Given the description of an element on the screen output the (x, y) to click on. 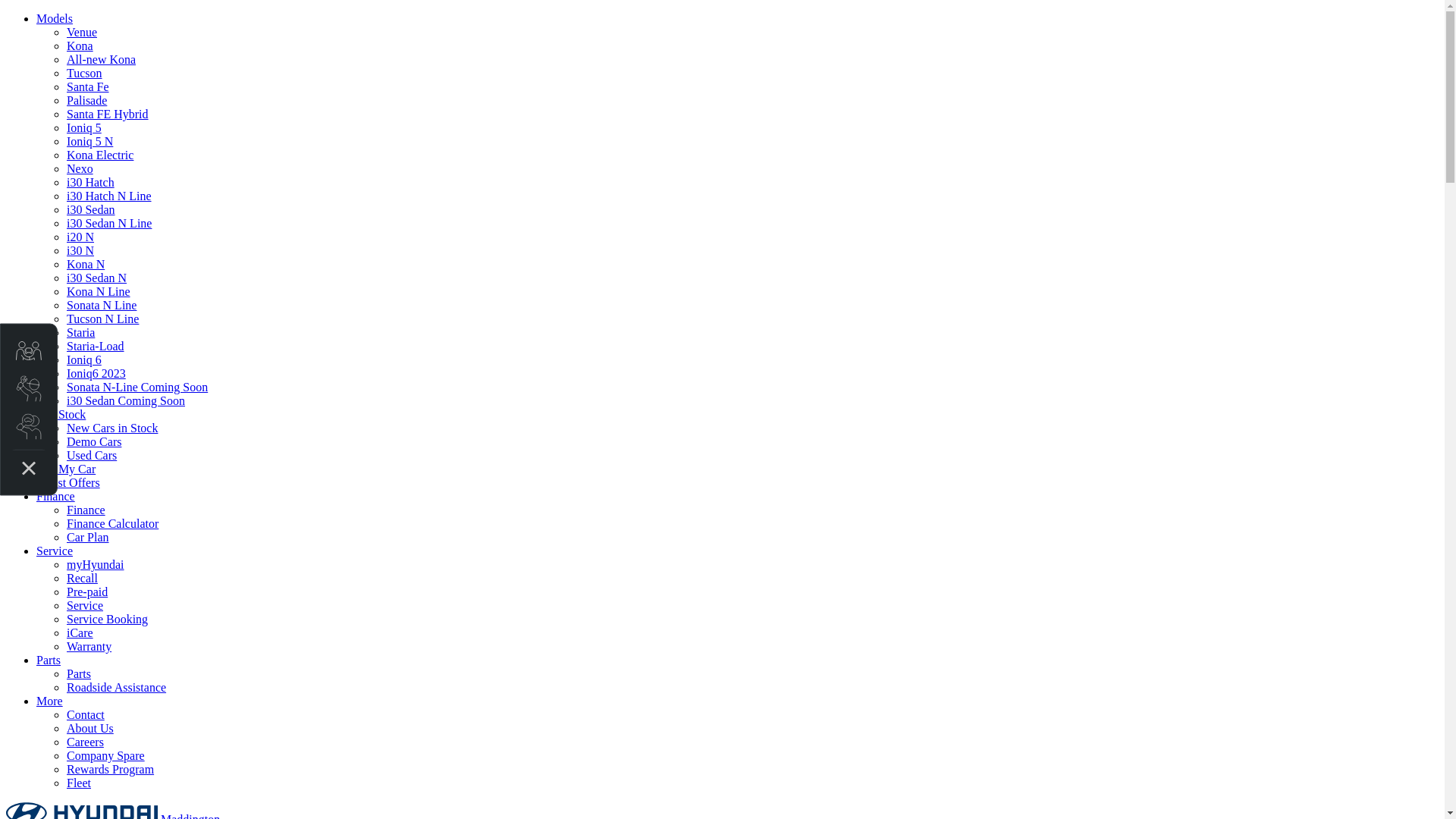
Finance Element type: text (85, 509)
Demo Cars Element type: text (93, 441)
Ioniq6 2023 Element type: text (95, 373)
Company Spare Element type: text (105, 755)
Service Booking Element type: text (106, 618)
Pre-paid Element type: text (86, 591)
i30 Hatch N Line Element type: text (108, 195)
i20 N Element type: text (80, 236)
All-new Kona Element type: text (100, 59)
Parts Element type: text (78, 673)
Our Stock Element type: text (60, 413)
Models Element type: text (54, 18)
Car Plan Element type: text (87, 536)
Ioniq 6 Element type: text (83, 359)
i30 Sedan N Line Element type: text (108, 222)
Santa FE Hybrid Element type: text (107, 113)
i30 N Element type: text (80, 250)
Sonata N Line Element type: text (101, 304)
Santa Fe Element type: text (87, 86)
Sonata N-Line Coming Soon Element type: text (136, 386)
Ioniq 5 N Element type: text (89, 140)
Fleet Element type: text (78, 782)
Kona Element type: text (79, 45)
New Cars in Stock Element type: text (111, 427)
More Element type: text (49, 700)
Rewards Program Element type: text (109, 768)
i30 Sedan N Element type: text (96, 277)
Roadside Assistance Element type: text (116, 686)
Tucson N Line Element type: text (102, 318)
Staria Element type: text (80, 332)
Service Element type: text (54, 550)
Kona N Line Element type: text (98, 291)
Warranty Element type: text (88, 646)
Staria-Load Element type: text (95, 345)
Sell My Car Element type: text (65, 468)
Recall Element type: text (81, 577)
i30 Hatch Element type: text (90, 181)
i30 Sedan Element type: text (90, 209)
Finance Element type: text (55, 495)
iCare Element type: text (79, 632)
Finance Calculator Element type: text (112, 523)
Palisade Element type: text (86, 100)
Kona Electric Element type: text (99, 154)
Tucson Element type: text (84, 72)
Used Cars Element type: text (91, 454)
Ioniq 5 Element type: text (83, 127)
Kona N Element type: text (85, 263)
Parts Element type: text (48, 659)
Venue Element type: text (81, 31)
Service Element type: text (84, 605)
myHyundai Element type: text (95, 564)
Latest Offers Element type: text (68, 482)
Nexo Element type: text (79, 168)
Careers Element type: text (84, 741)
About Us Element type: text (89, 727)
i30 Sedan Coming Soon Element type: text (125, 400)
Contact Element type: text (85, 714)
